Given the description of an element on the screen output the (x, y) to click on. 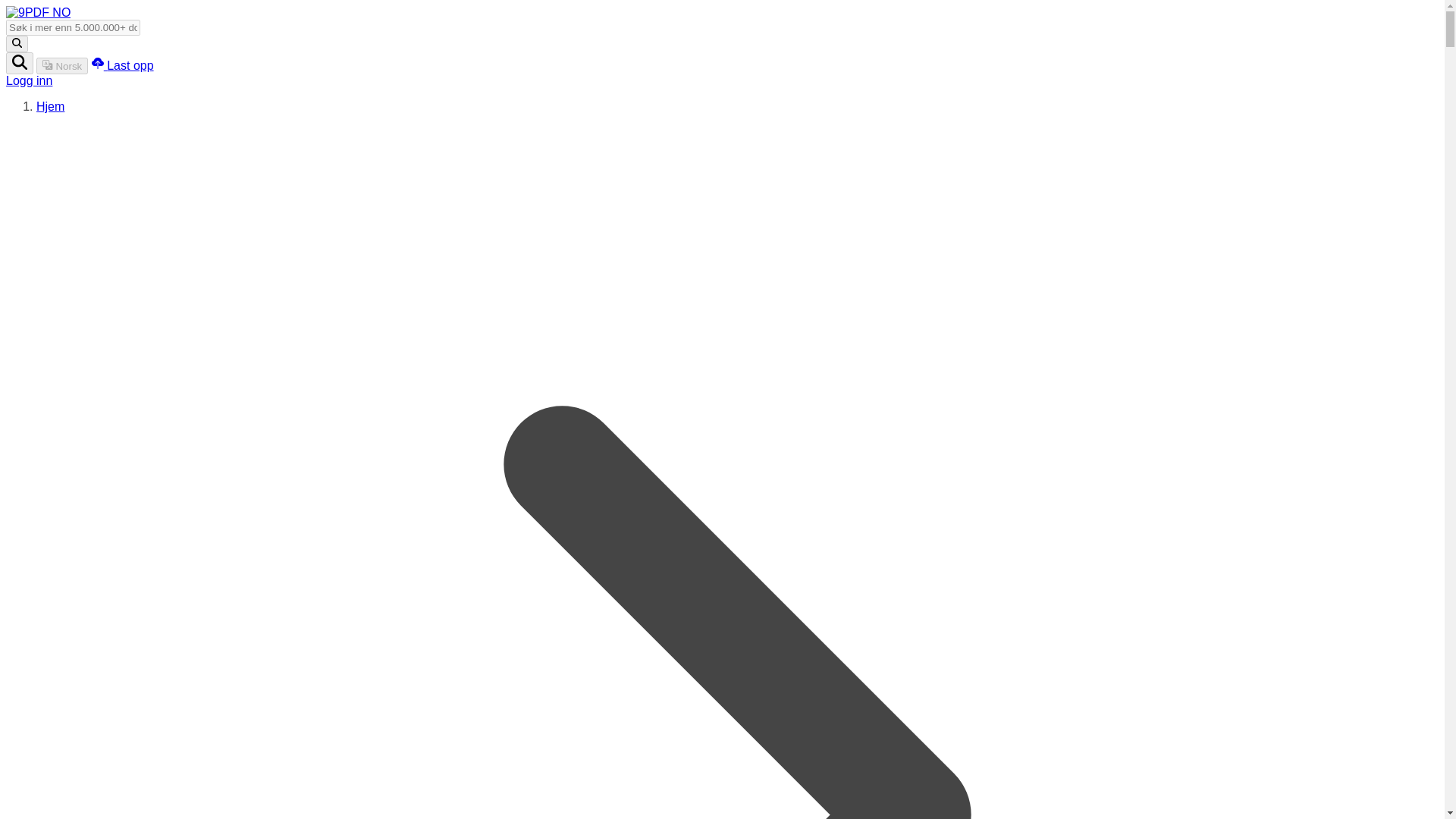
Hjem (50, 106)
Last opp (122, 65)
Logg inn (28, 80)
Norsk (61, 65)
